Given the description of an element on the screen output the (x, y) to click on. 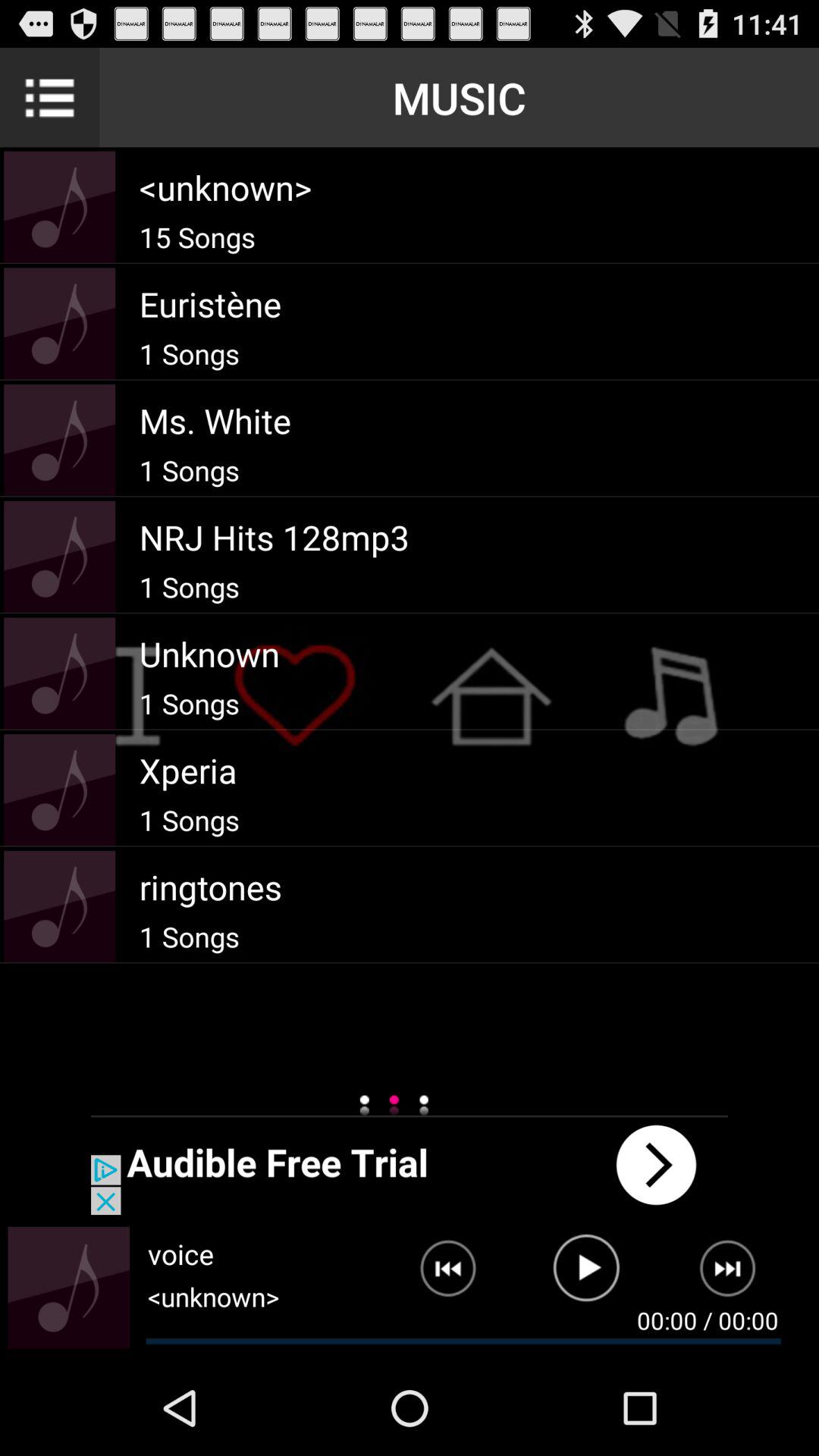
playing (586, 1274)
